Given the description of an element on the screen output the (x, y) to click on. 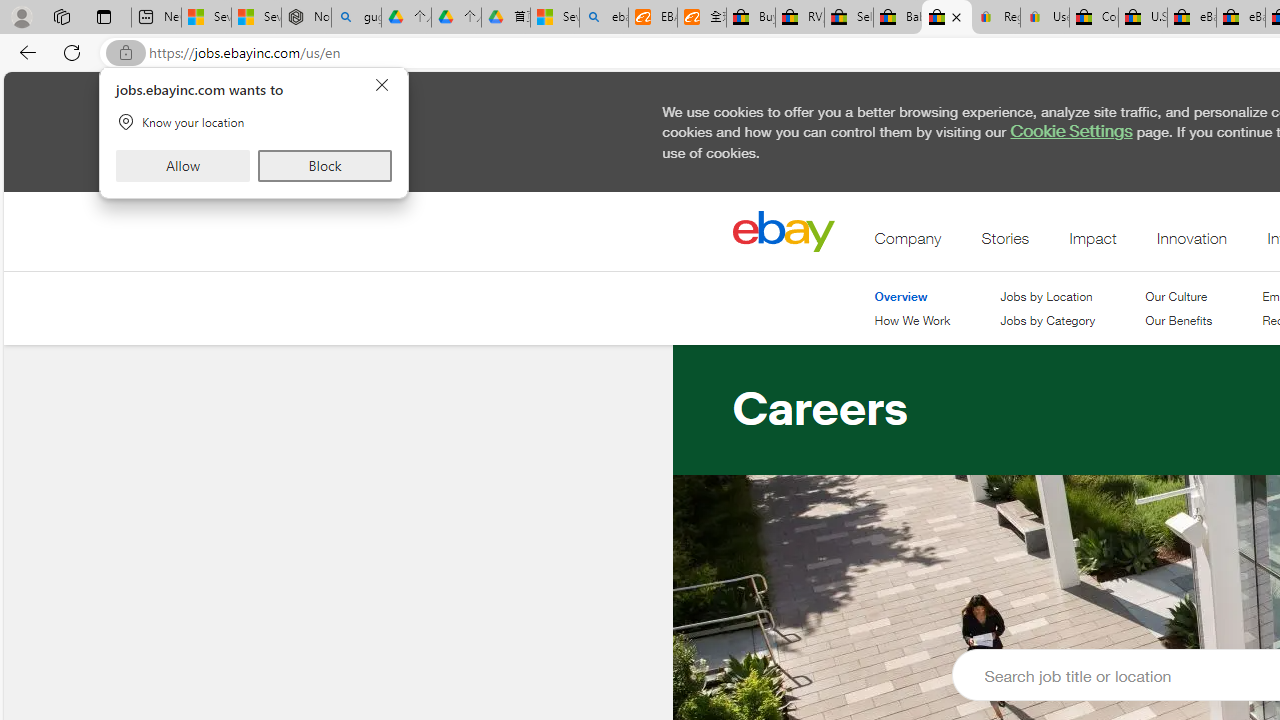
eBay Inc. Reports Third Quarter 2023 Results (1240, 17)
How We Work (912, 321)
Innovation (1191, 243)
Register: Create a personal eBay account (995, 17)
Baby Keepsakes & Announcements for sale | eBay (897, 17)
Overview (912, 296)
Home (783, 231)
Block (324, 165)
Jobs by Location (1047, 296)
Consumer Health Data Privacy Policy - eBay Inc. (1093, 17)
Our Culture (1179, 296)
